Given the description of an element on the screen output the (x, y) to click on. 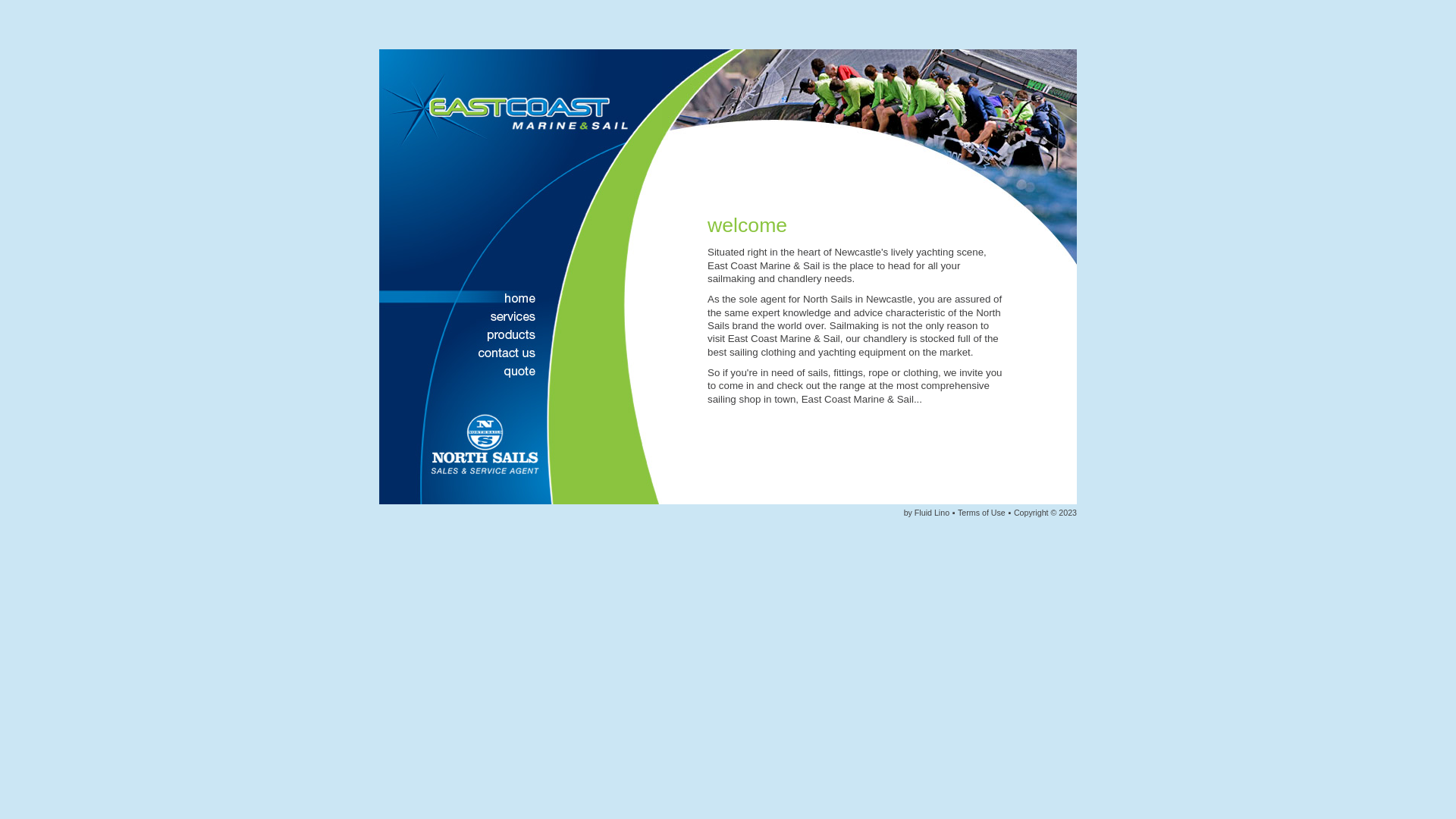
Fluid Lino Element type: text (931, 512)
Terms of Use Element type: text (981, 512)
Home Element type: text (460, 299)
Contact Element type: text (460, 354)
Products Element type: text (460, 335)
Services Element type: text (460, 317)
Quote Element type: text (460, 372)
